Given the description of an element on the screen output the (x, y) to click on. 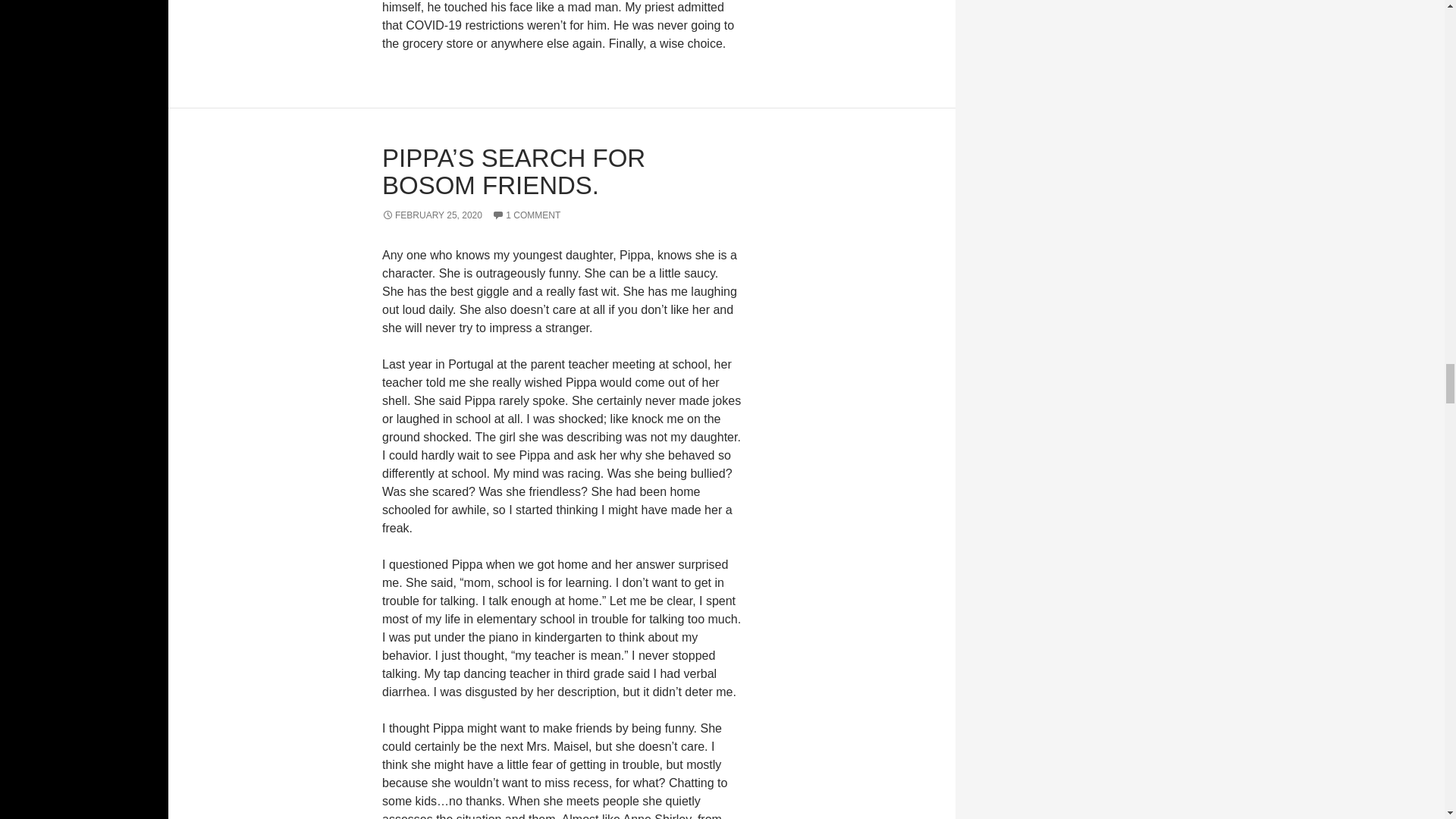
1 COMMENT (526, 214)
FEBRUARY 25, 2020 (431, 214)
